Given the description of an element on the screen output the (x, y) to click on. 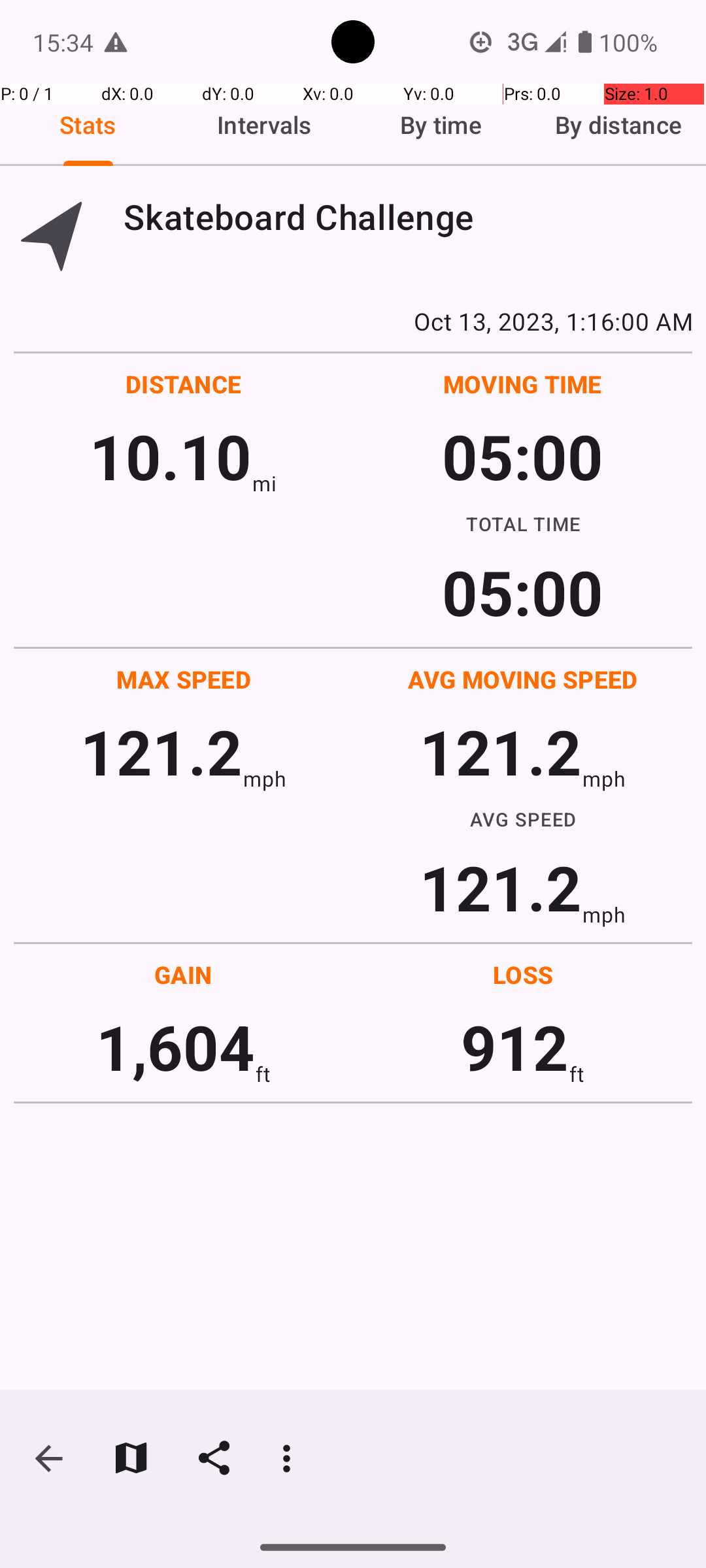
Skateboard Challenge Element type: android.widget.TextView (407, 216)
Oct 13, 2023, 1:16:00 AM Element type: android.widget.TextView (352, 320)
10.10 Element type: android.widget.TextView (170, 455)
05:00 Element type: android.widget.TextView (522, 455)
121.2 Element type: android.widget.TextView (161, 750)
1,604 Element type: android.widget.TextView (175, 1045)
912 Element type: android.widget.TextView (514, 1045)
